Given the description of an element on the screen output the (x, y) to click on. 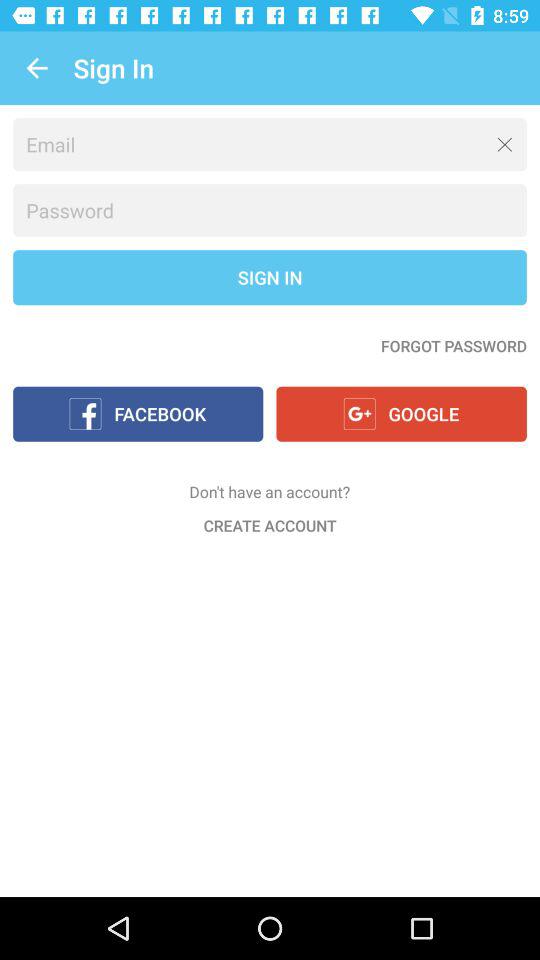
launch the forgot password (453, 345)
